Given the description of an element on the screen output the (x, y) to click on. 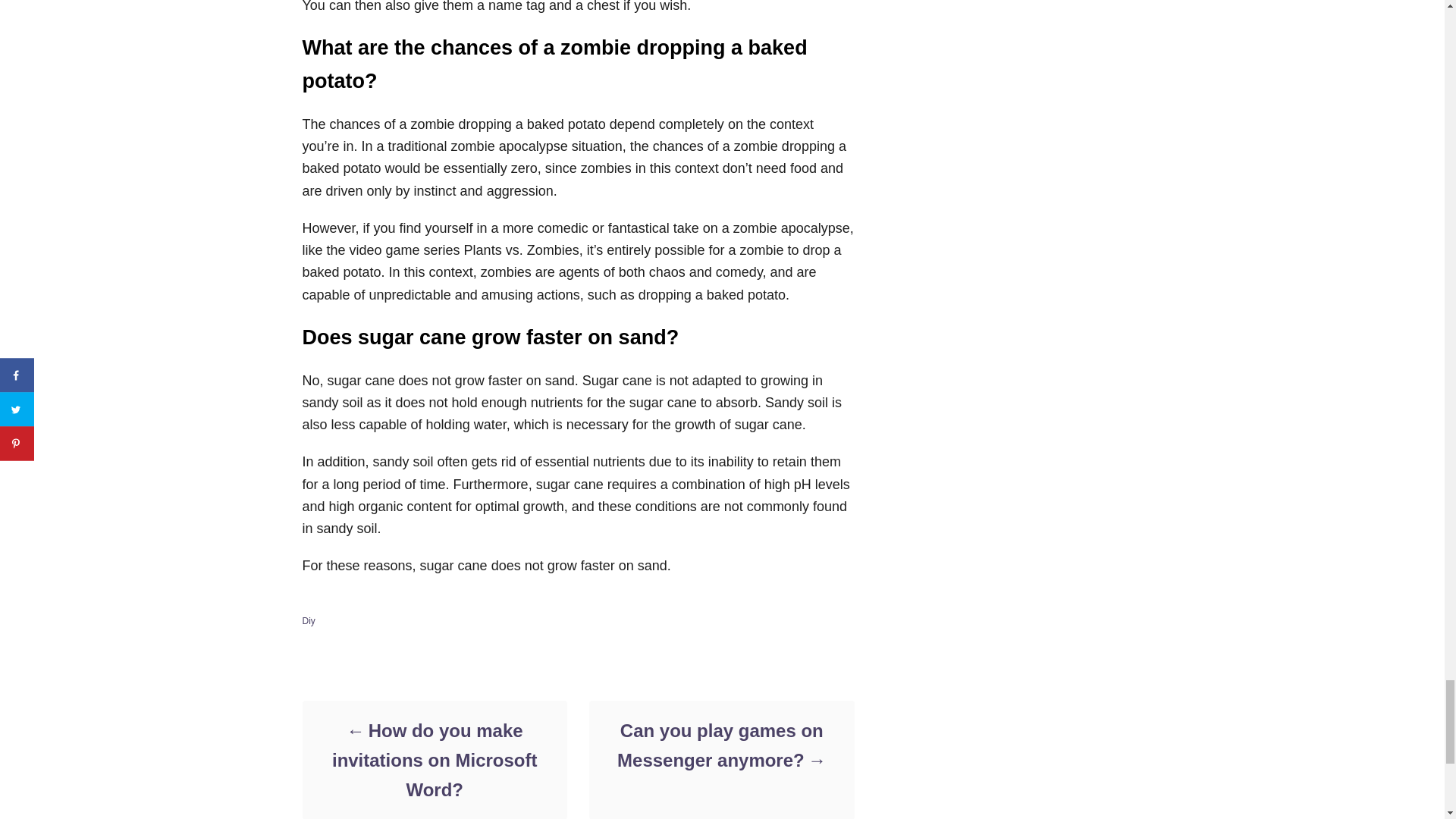
Can you play games on Messenger anymore? (721, 744)
How do you make invitations on Microsoft Word? (434, 759)
Diy (307, 620)
